Given the description of an element on the screen output the (x, y) to click on. 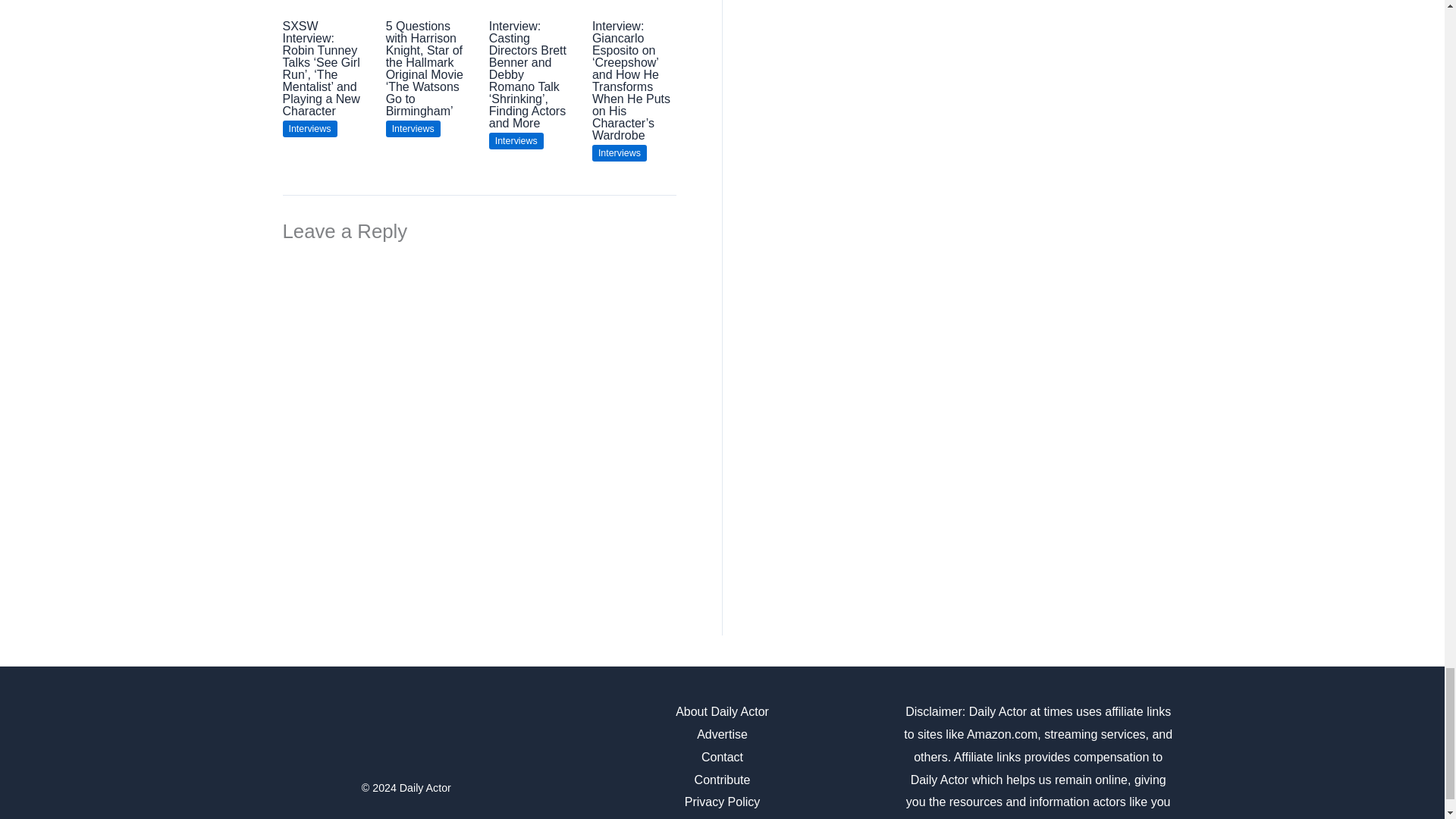
Comment Form (479, 411)
